Given the description of an element on the screen output the (x, y) to click on. 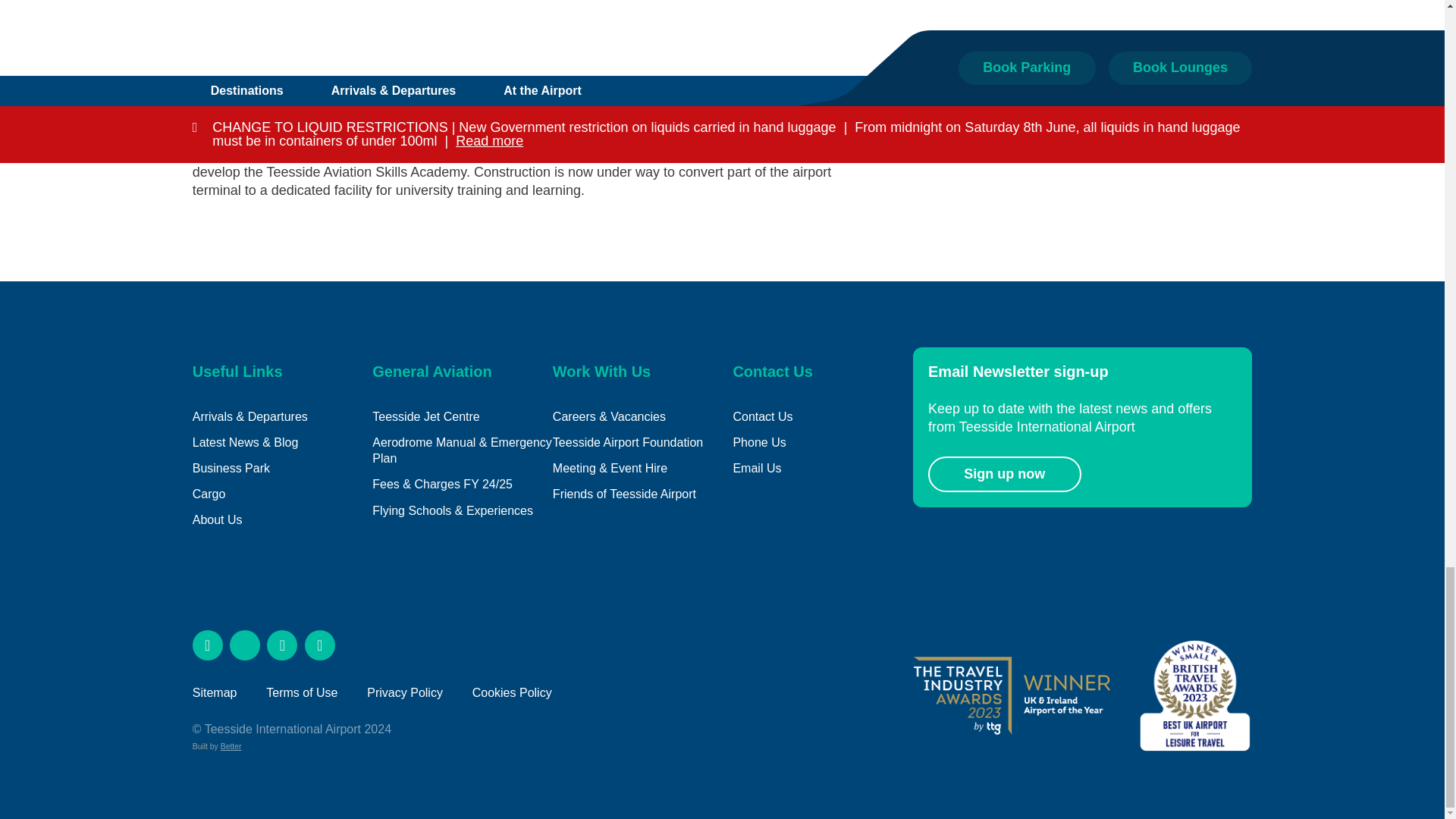
Like us on Facebook (207, 644)
Built By Better (231, 746)
Follow us on X (245, 644)
Follow us on Instagram (281, 644)
Follow us on LinkedIn (319, 644)
